Given the description of an element on the screen output the (x, y) to click on. 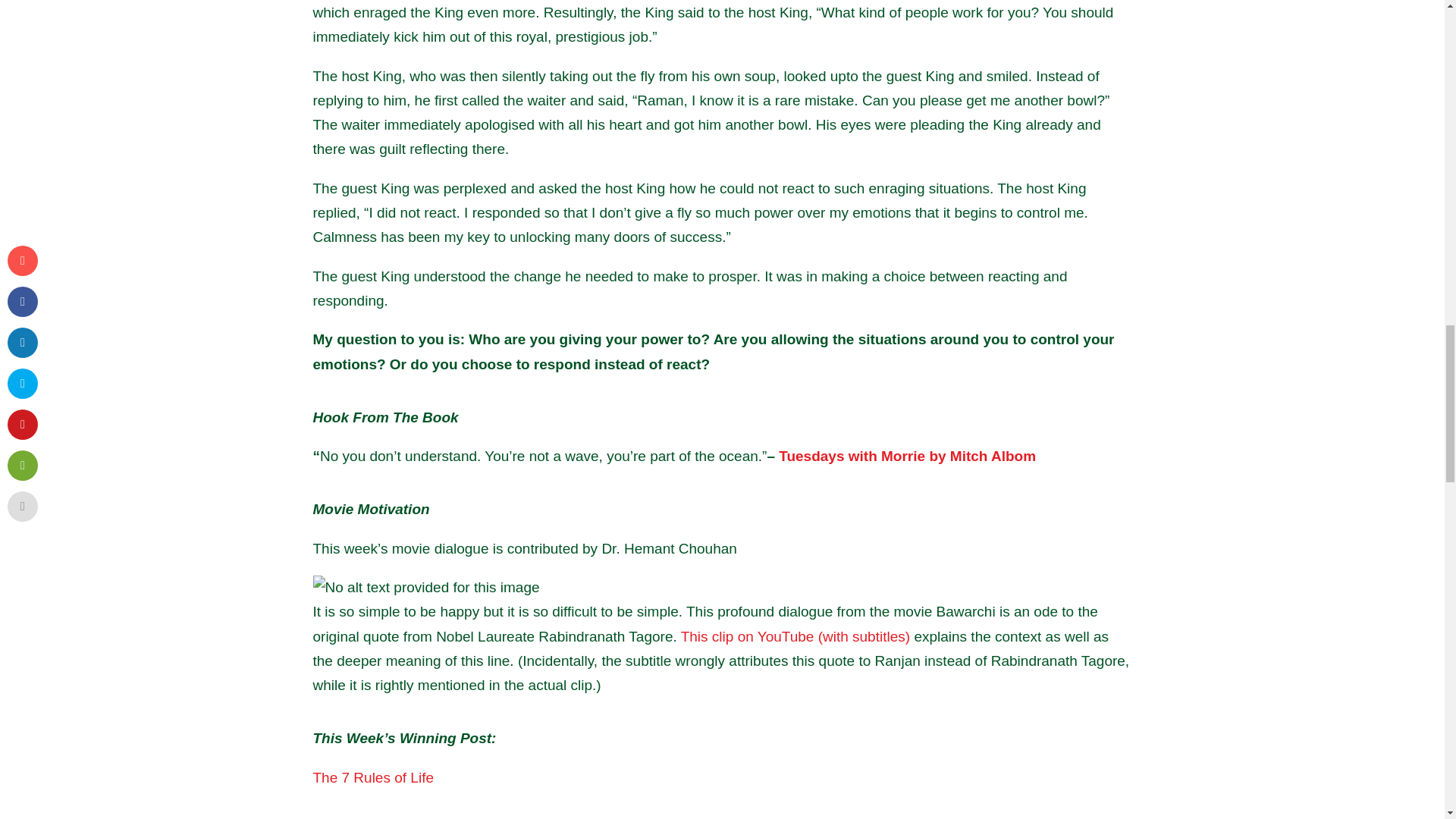
The 7 Rules of Life (372, 777)
Tuesdays with Morrie by Mitch Albom (906, 455)
